Given the description of an element on the screen output the (x, y) to click on. 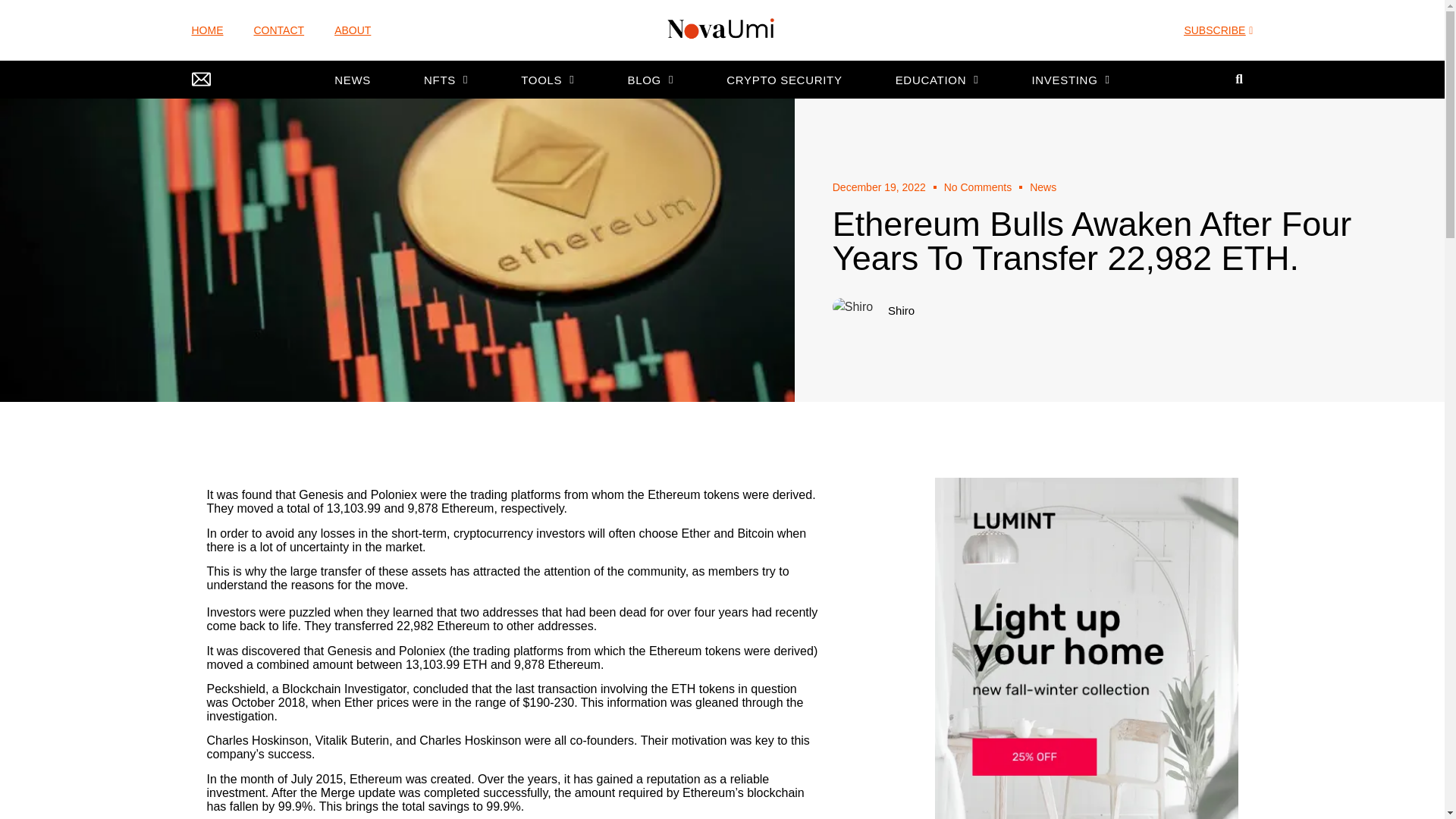
INVESTING (1070, 79)
SUBSCRIBE (1217, 31)
BLOG (651, 79)
TOOLS (546, 79)
HOME (206, 30)
CRYPTO SECURITY (783, 79)
CONTACT (278, 30)
NFTS (445, 79)
NEWS (352, 79)
EDUCATION (936, 79)
ABOUT (352, 30)
